Given the description of an element on the screen output the (x, y) to click on. 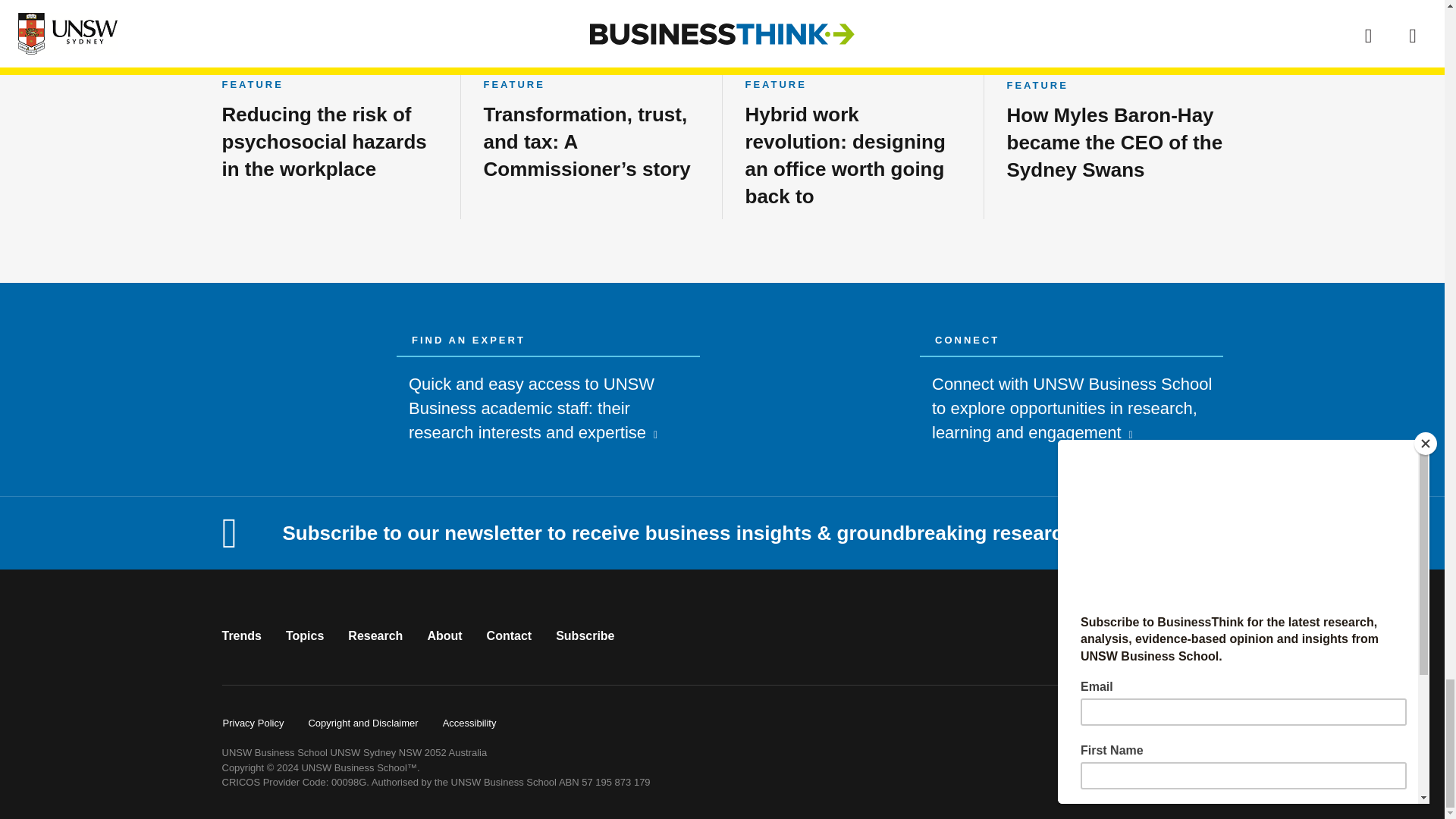
Facebook (1107, 636)
Youtube (1155, 636)
LinkedIn (1204, 636)
